Given the description of an element on the screen output the (x, y) to click on. 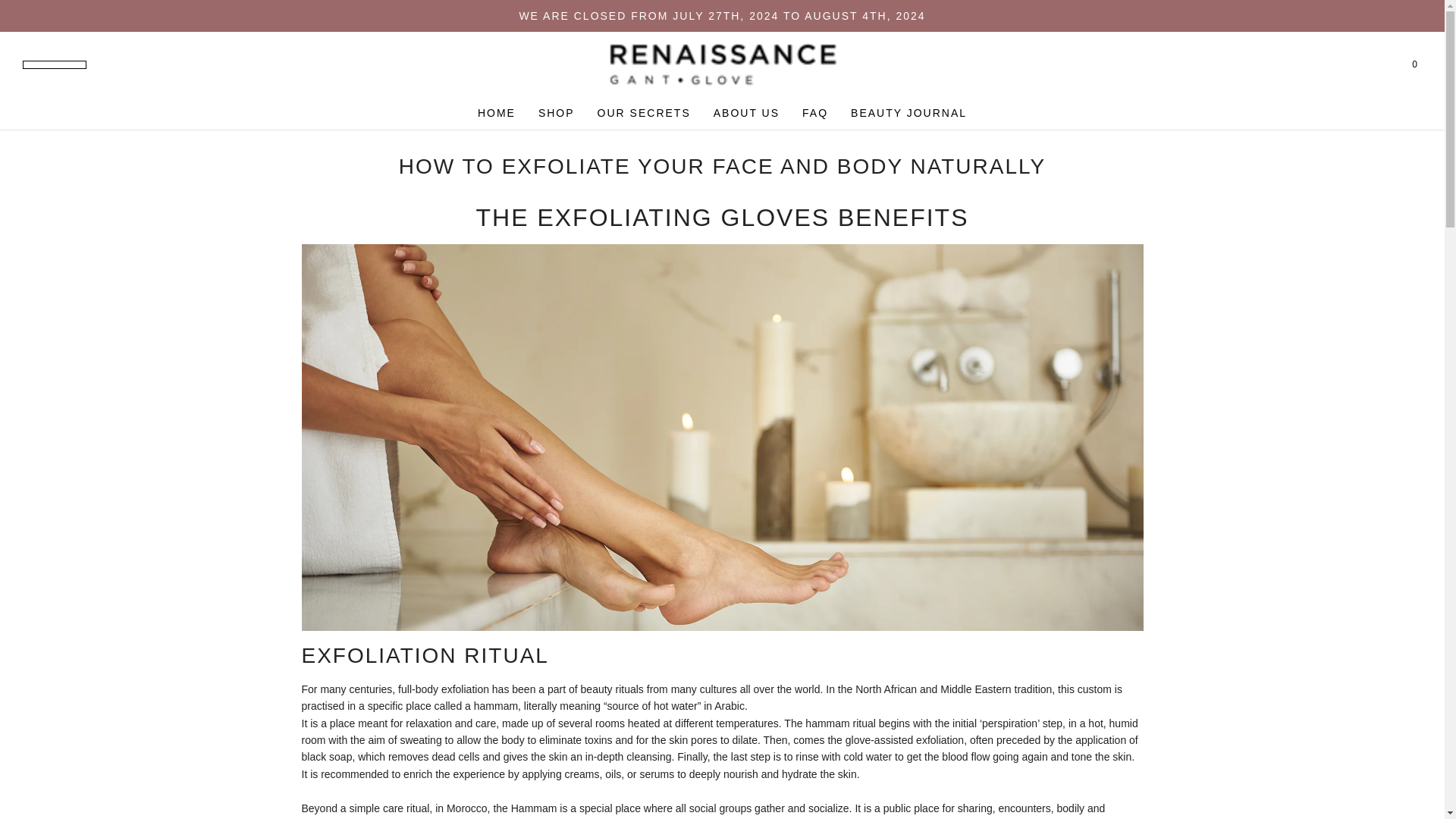
HOME (496, 112)
0 (1413, 64)
Cart (1413, 64)
SHOP (556, 112)
